Given the description of an element on the screen output the (x, y) to click on. 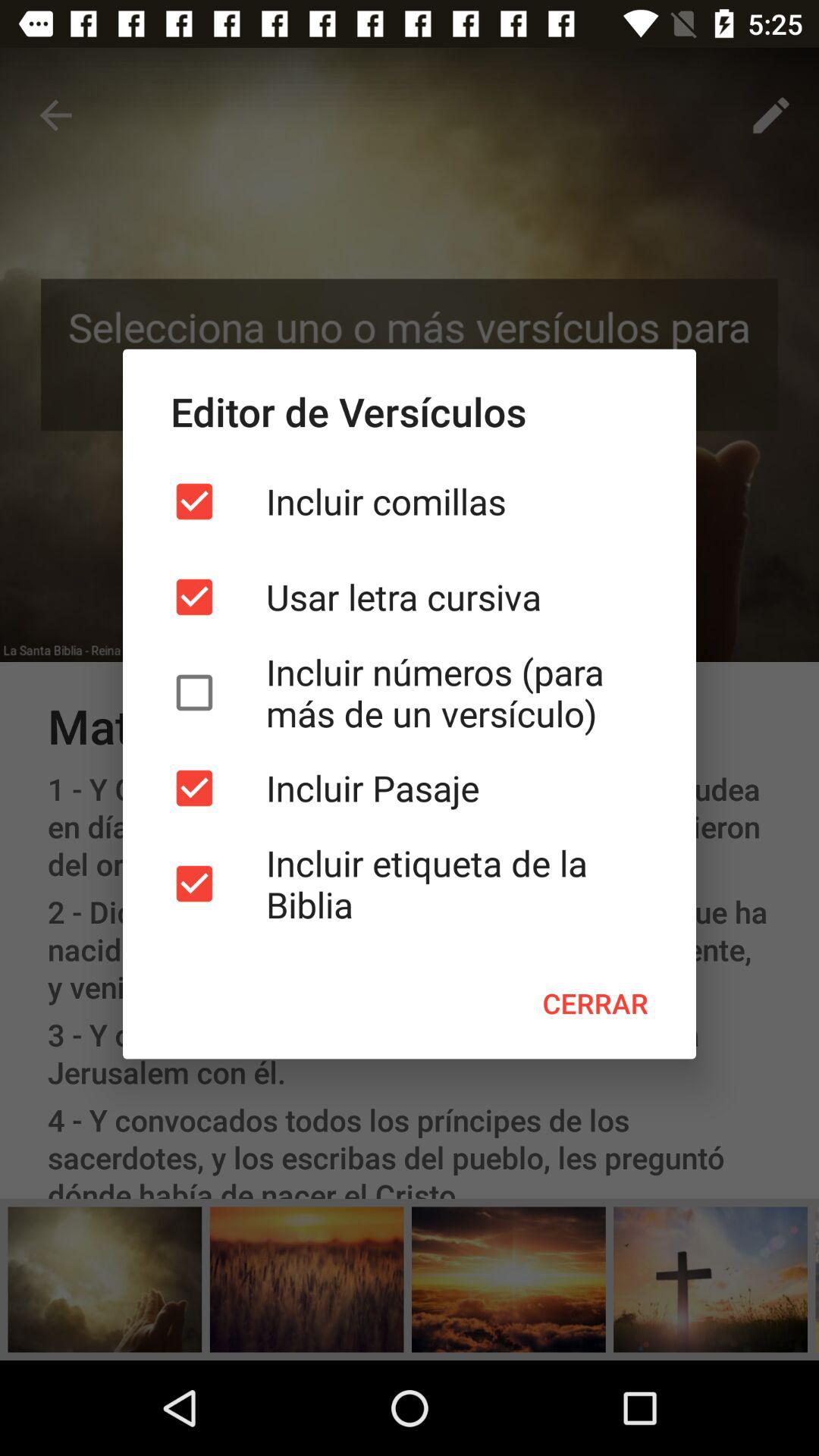
jump until cerrar item (595, 1003)
